Given the description of an element on the screen output the (x, y) to click on. 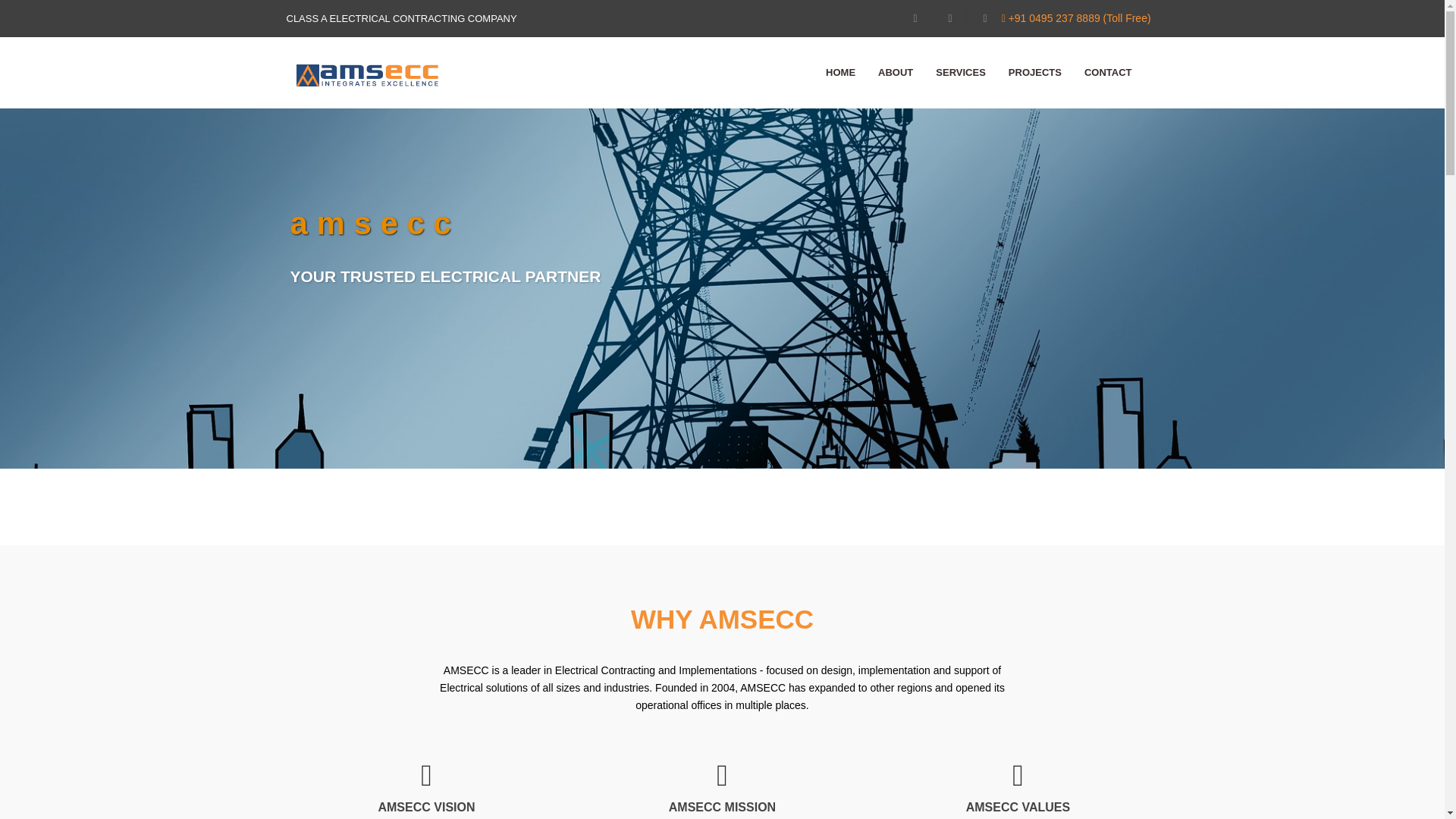
CONTACT (1108, 72)
ABOUT (894, 72)
HOME (840, 72)
PROJECTS (1035, 72)
SERVICES (960, 72)
